Given the description of an element on the screen output the (x, y) to click on. 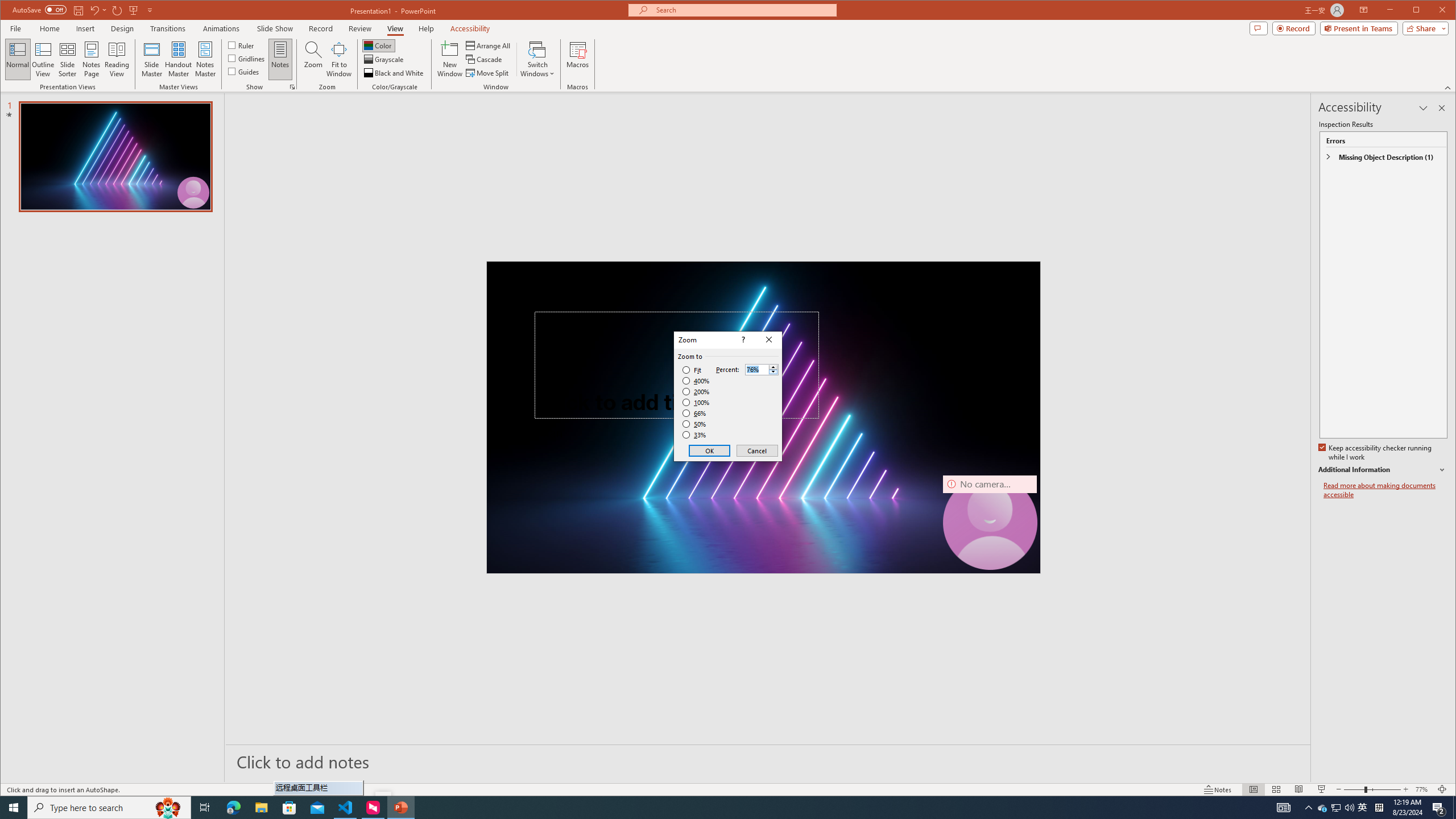
Notes Page (91, 59)
Macros (576, 59)
Outline View (42, 59)
Guides (243, 70)
